Given the description of an element on the screen output the (x, y) to click on. 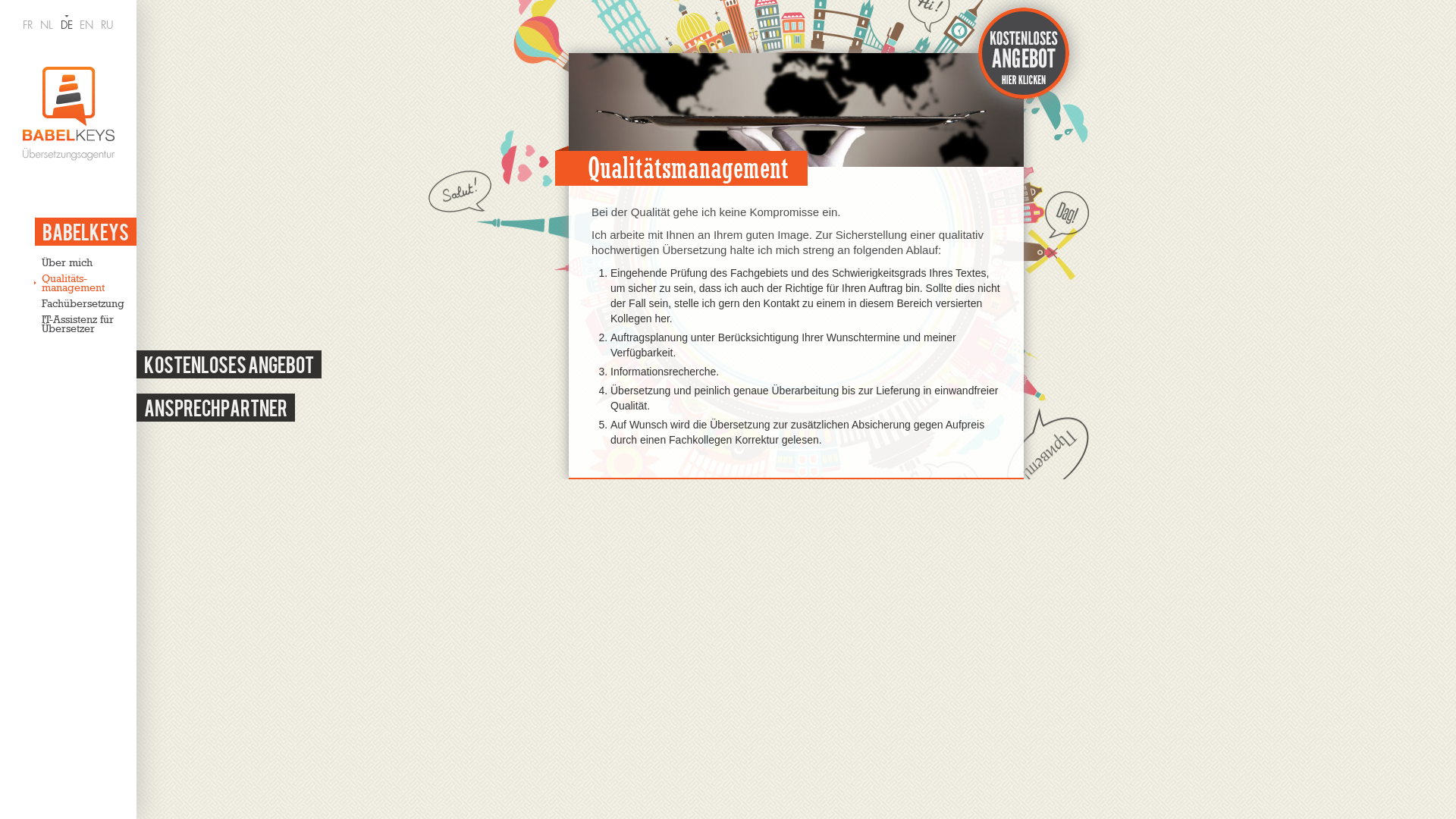
NL Element type: text (46, 24)
Kostenloses Angebot Element type: text (228, 364)
Babelkeys Element type: text (85, 231)
EN Element type: text (86, 24)
Ansprechpartner Element type: text (215, 407)
FR Element type: text (27, 24)
RU Element type: text (106, 24)
DE Element type: text (66, 24)
